Given the description of an element on the screen output the (x, y) to click on. 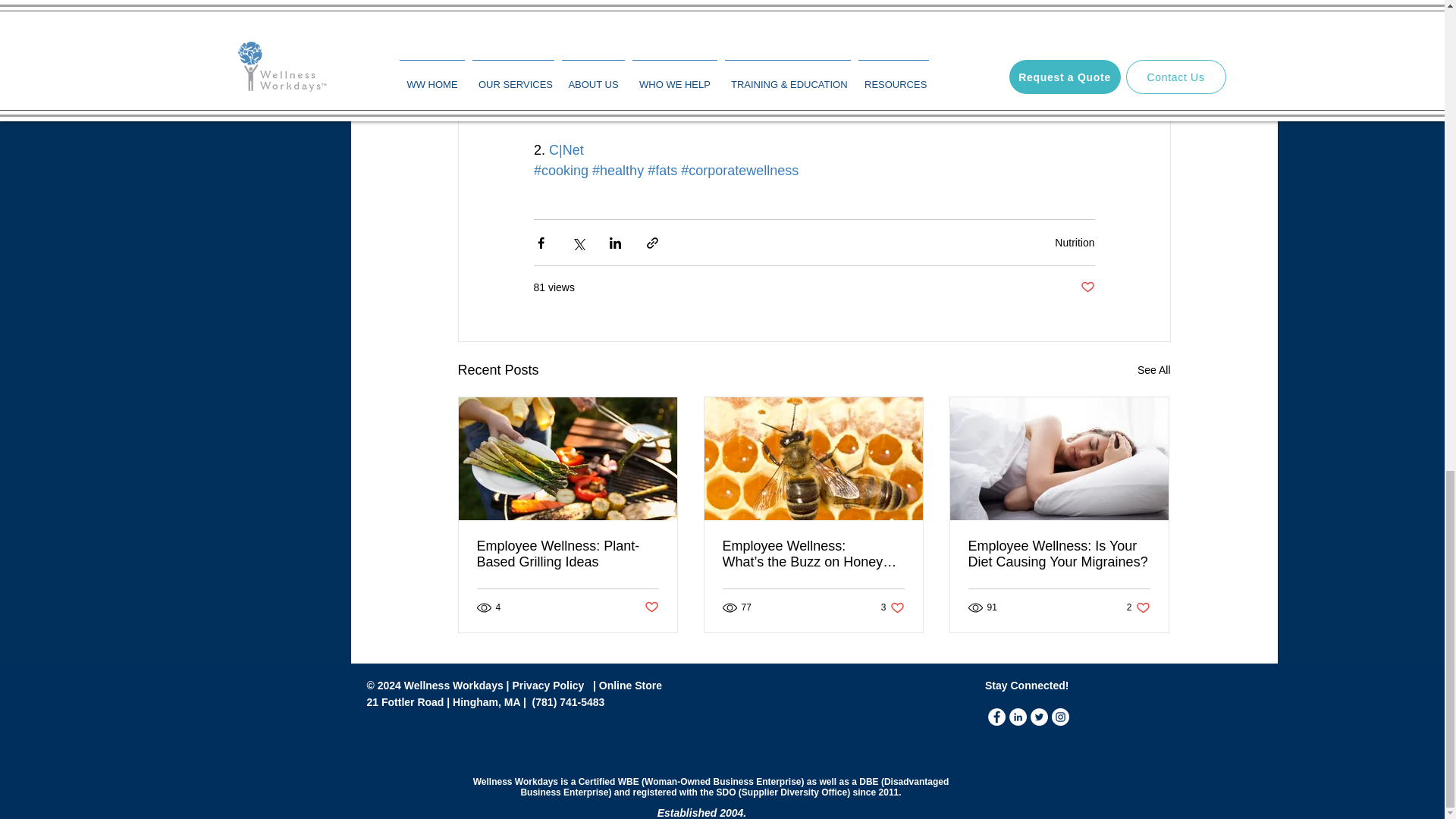
Wellness Workdays (802, 17)
brochure (963, 27)
MDPI Nutrients (595, 109)
